Given the description of an element on the screen output the (x, y) to click on. 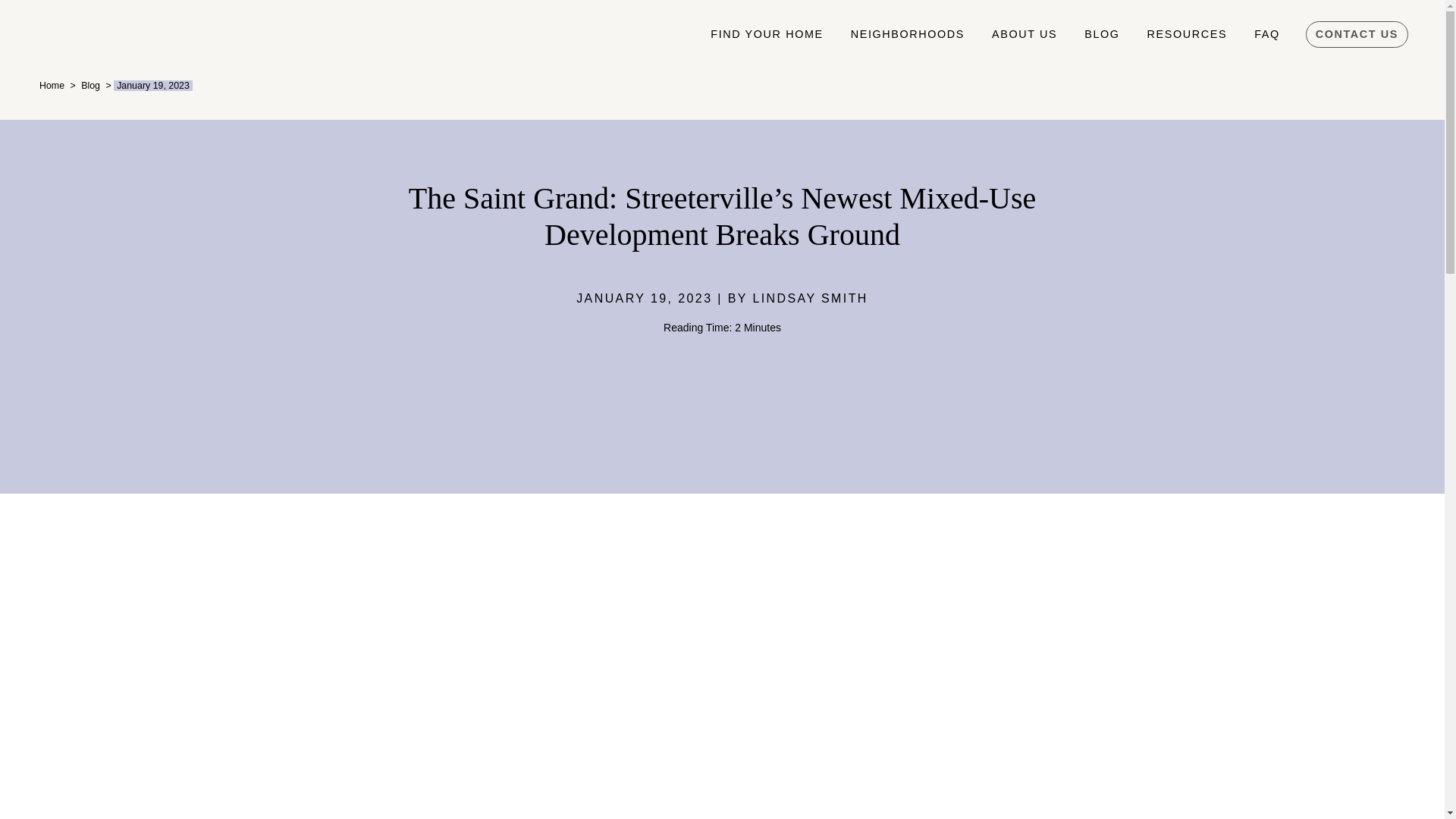
BLOG (1101, 34)
Blog (90, 85)
FAQ (1267, 34)
ABOUT US (1024, 34)
CONTACT US (1356, 34)
FIND YOUR HOME (766, 34)
Home (51, 85)
RESOURCES (1187, 34)
NEIGHBORHOODS (907, 34)
